Given the description of an element on the screen output the (x, y) to click on. 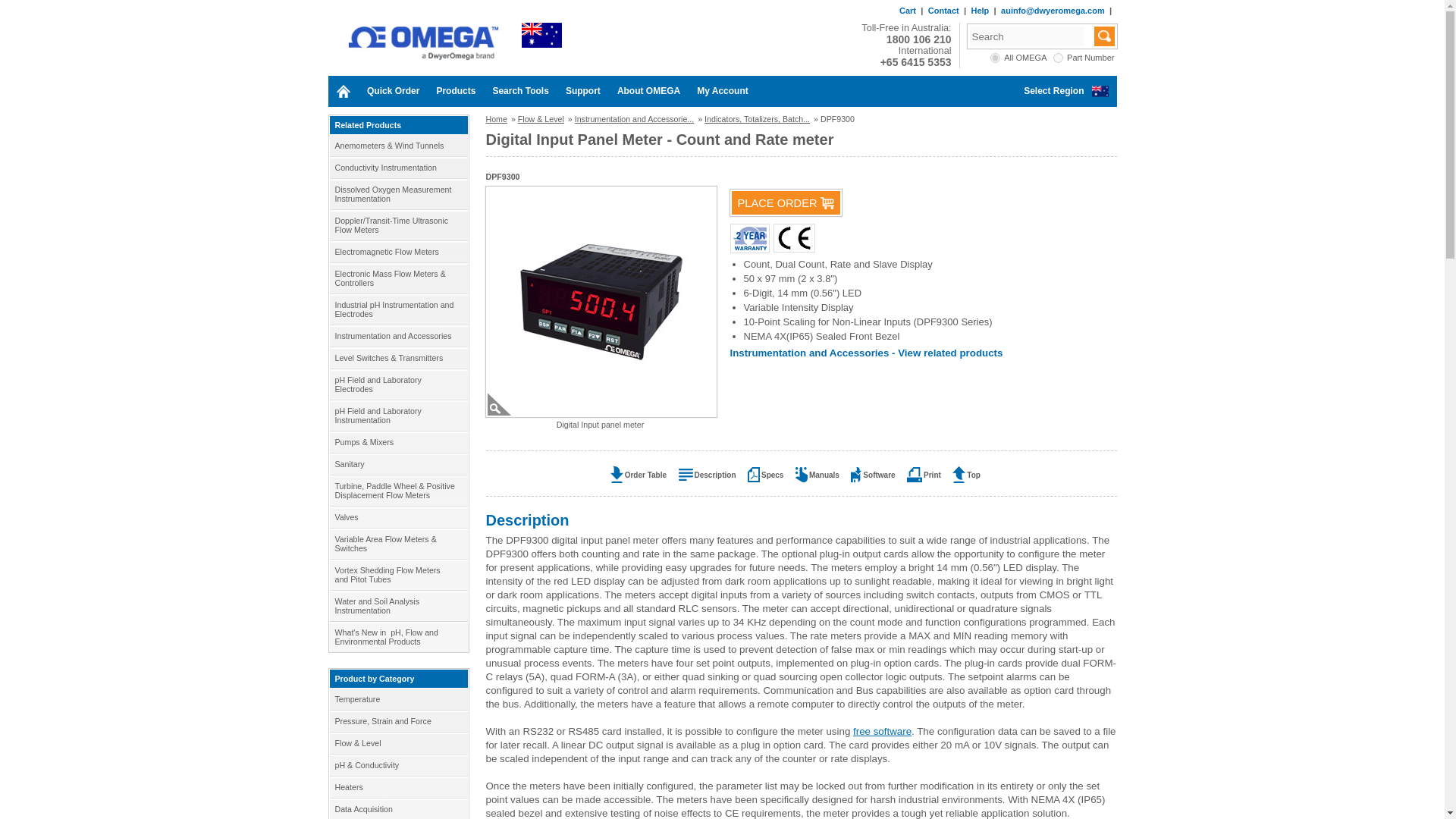
Instrumentation and Accessories (398, 335)
allomega (995, 58)
Conductivity Instrumentation (398, 167)
pH Field and Laboratory Electrodes (398, 384)
Valves (398, 516)
Contact (943, 10)
Products (455, 91)
Dissolved Oxygen Measurement Instrumentation (398, 194)
Industrial pH Instrumentation and Electrodes (398, 309)
pH Field and Laboratory Instrumentation (398, 415)
Water and Soil Analysis Instrumentation (398, 605)
Support (582, 91)
Help (979, 10)
Sanitary (398, 464)
